Given the description of an element on the screen output the (x, y) to click on. 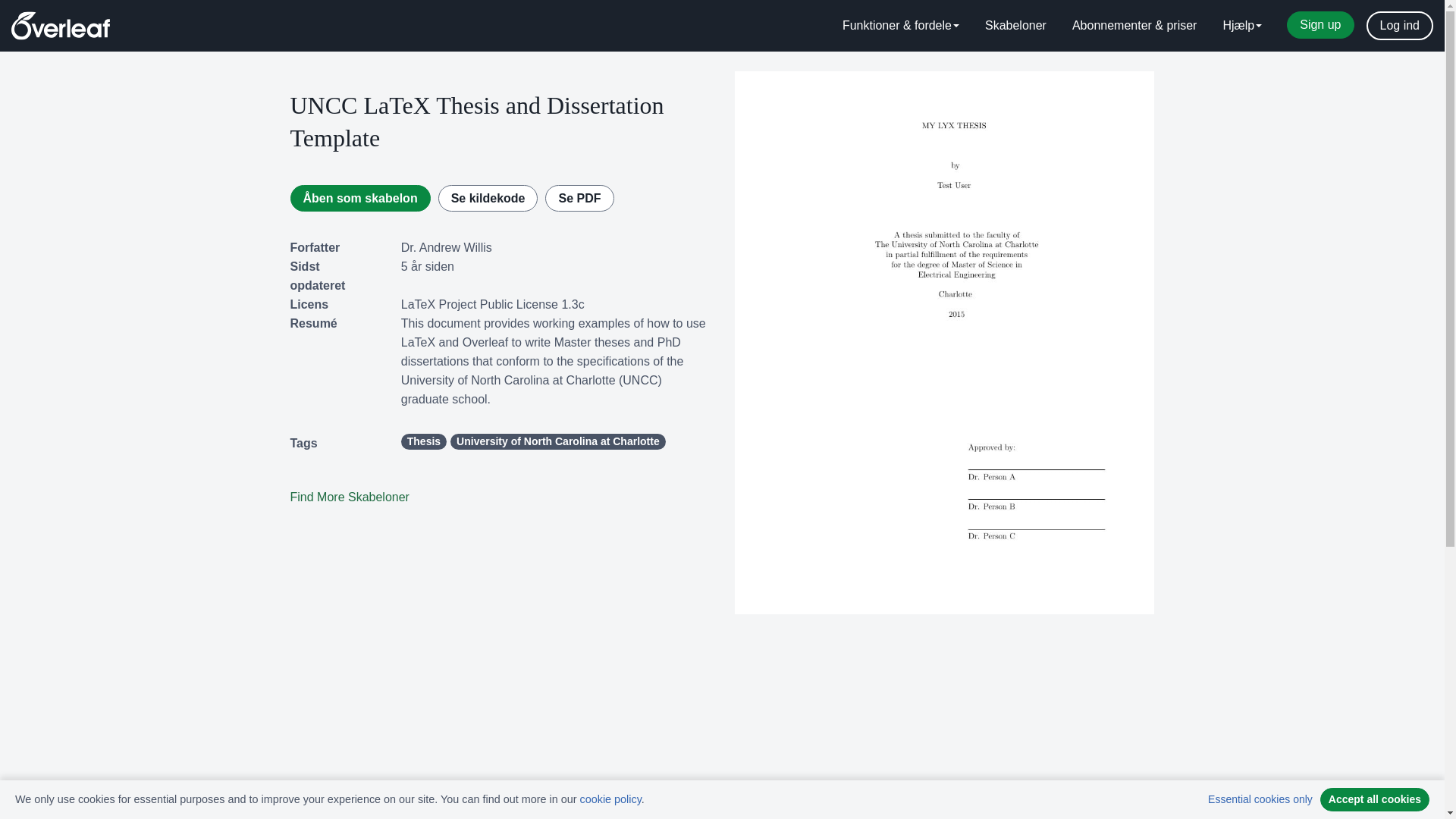
Se PDF (578, 198)
Sign up (1320, 24)
University of North Carolina at Charlotte (557, 441)
Se kildekode (488, 198)
Skabeloner (1015, 25)
Find More Skabeloner (349, 496)
Thesis (423, 441)
Log ind (1400, 25)
